Given the description of an element on the screen output the (x, y) to click on. 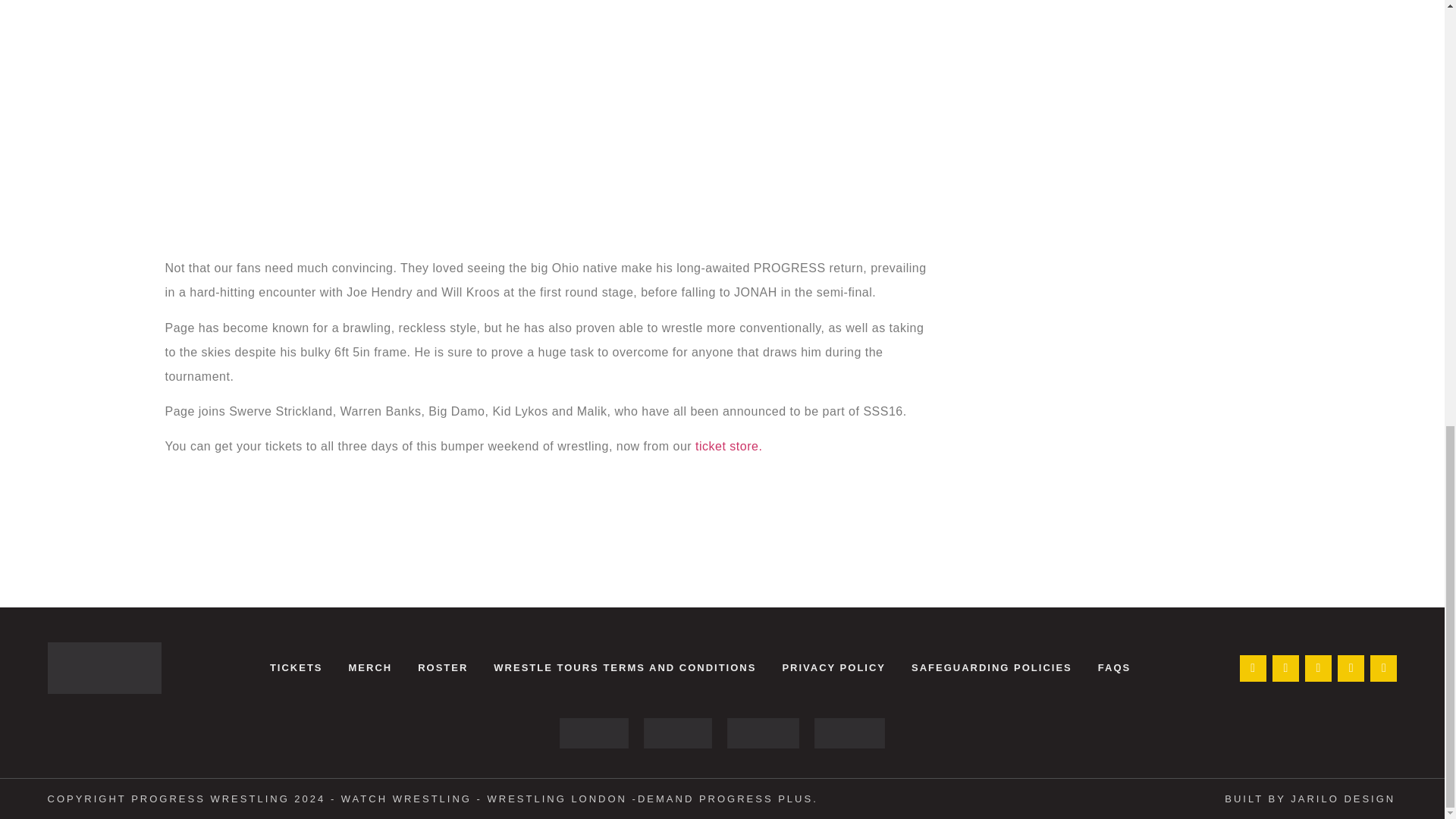
FAQS (1113, 667)
ticket store. (728, 445)
ROSTER (442, 667)
logo - PROGRESS Wrestling - Watch on Demand PROGRESS PLUS (677, 733)
TICKETS (296, 667)
MERCH (369, 667)
PRIVACY POLICY (833, 667)
SAFEGUARDING POLICIES (991, 667)
merch - PROGRESS Wrestling - Watch on Demand PROGRESS PLUS (849, 733)
WRESTLE TOURS TERMS AND CONDITIONS (624, 667)
